Given the description of an element on the screen output the (x, y) to click on. 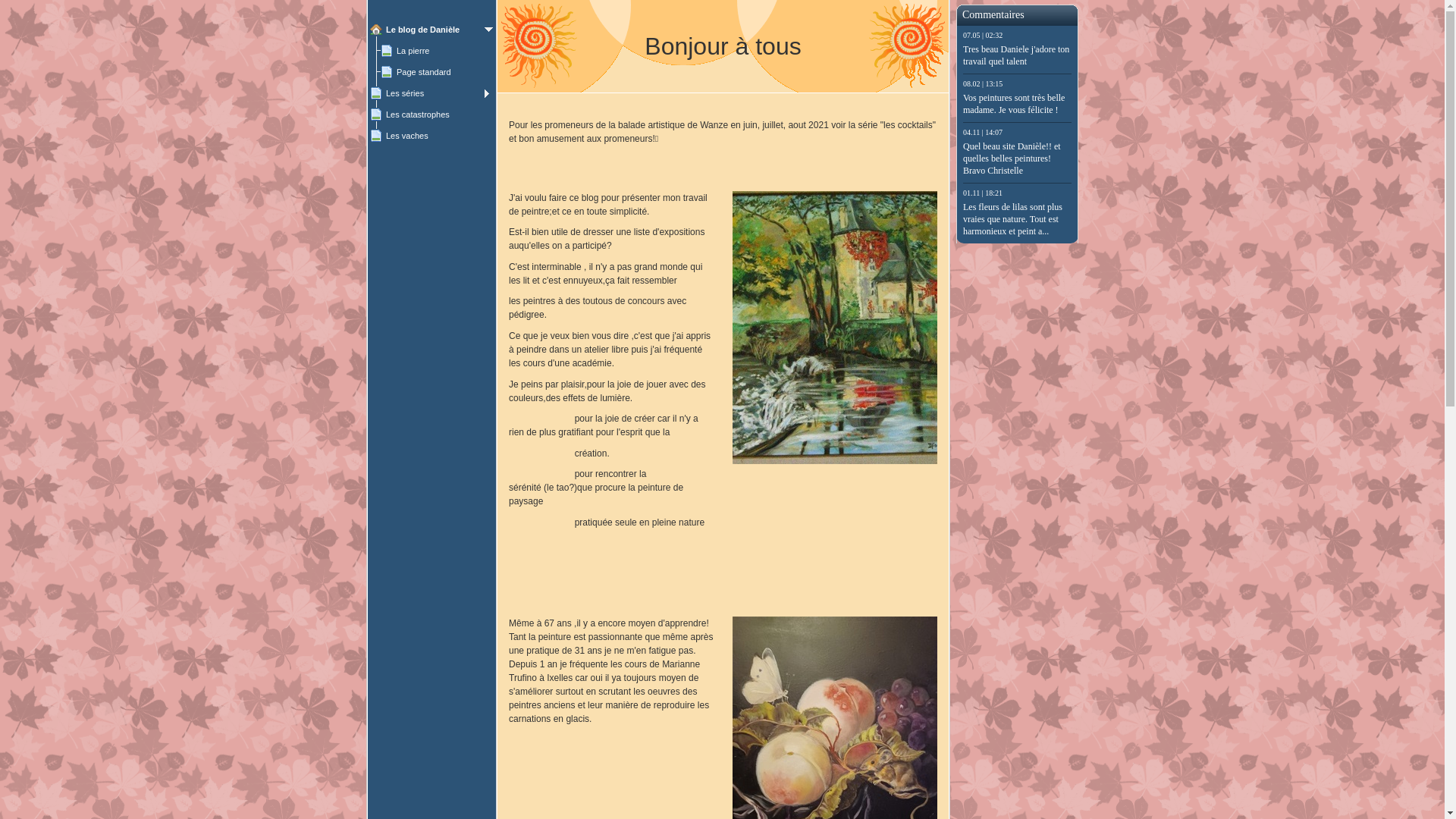
La pierre Element type: text (436, 50)
Les catastrophes Element type: text (431, 114)
Les vaches Element type: text (431, 135)
Page standard Element type: text (436, 71)
